Given the description of an element on the screen output the (x, y) to click on. 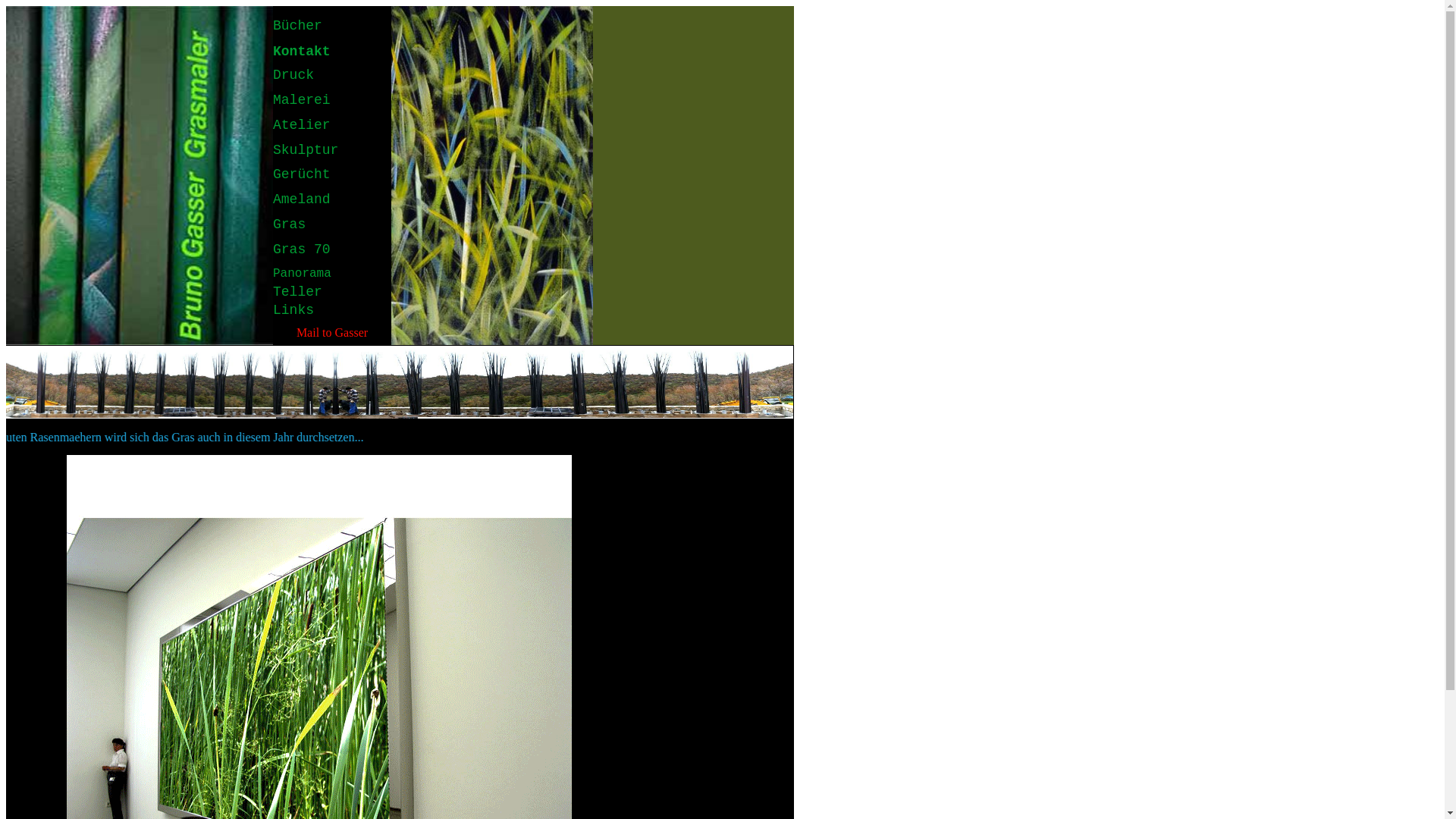
Druck Element type: text (293, 73)
Links Element type: text (293, 309)
Skulptur Element type: text (305, 148)
Mail to Gasser Element type: text (331, 331)
Atelier Element type: text (301, 124)
Ameland Element type: text (301, 198)
Gras Element type: text (289, 223)
Gras 70 Element type: text (301, 248)
Malerei Element type: text (301, 98)
Panorama Element type: text (302, 271)
Kontakt Element type: text (301, 50)
Teller Element type: text (297, 291)
